Given the description of an element on the screen output the (x, y) to click on. 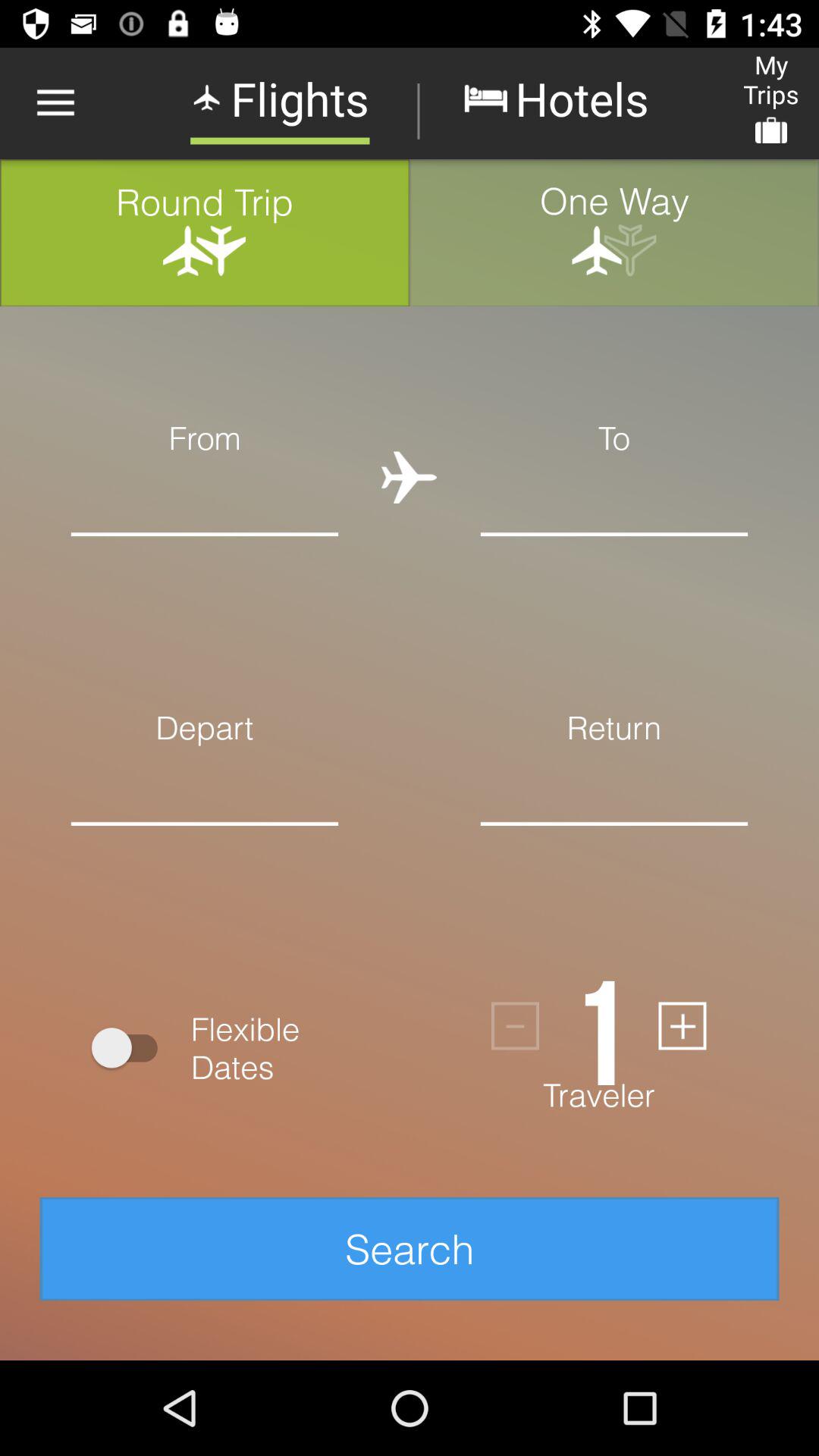
open icon below the from (204, 496)
